Given the description of an element on the screen output the (x, y) to click on. 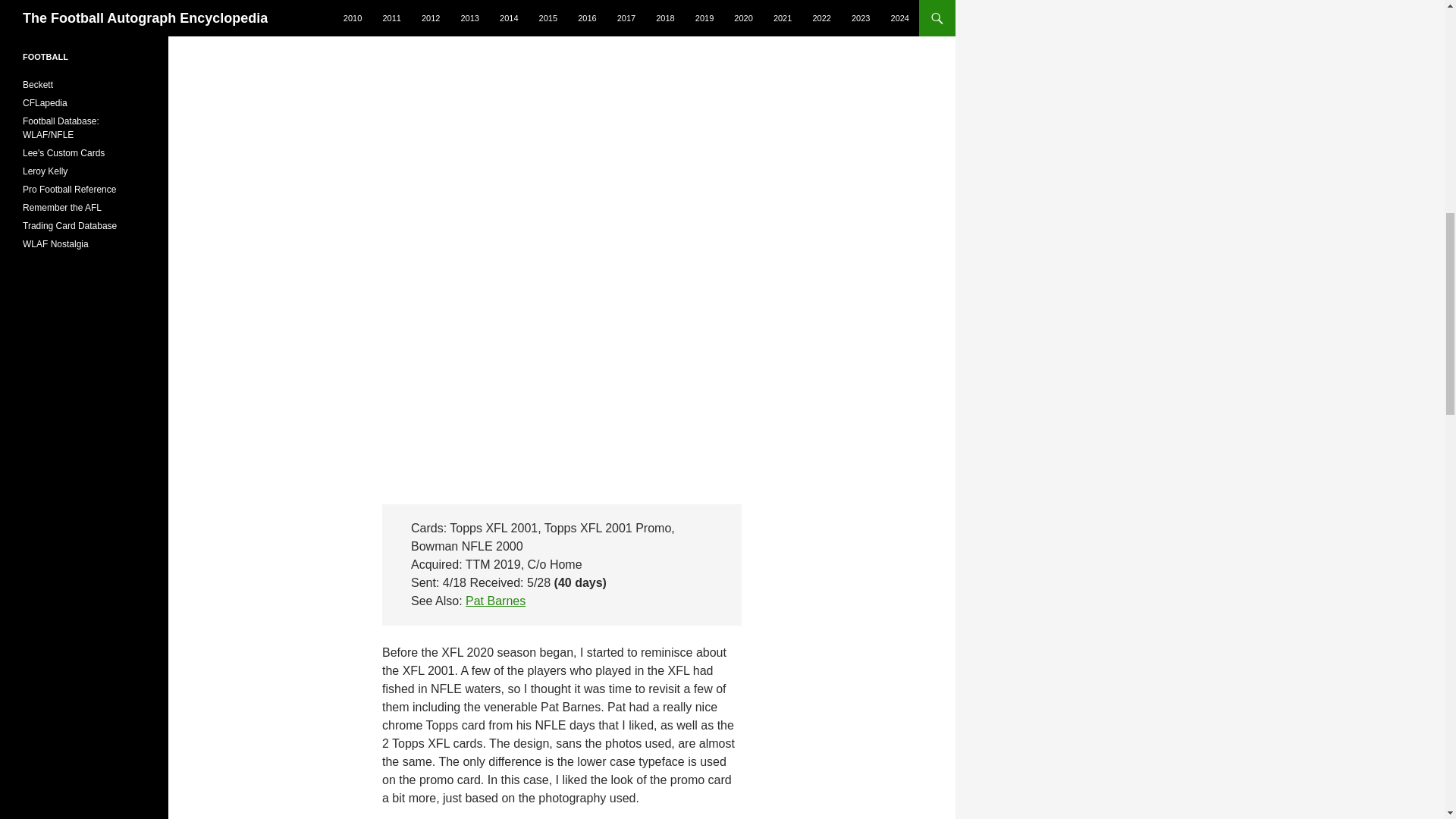
An encyclopedia of the CFL (44, 102)
American Football League Memorial Site (62, 207)
trading card store (37, 84)
My custom football card account (63, 153)
Pat Barnes (495, 600)
WLAF Pro Set 1991 Cards (55, 244)
